Given the description of an element on the screen output the (x, y) to click on. 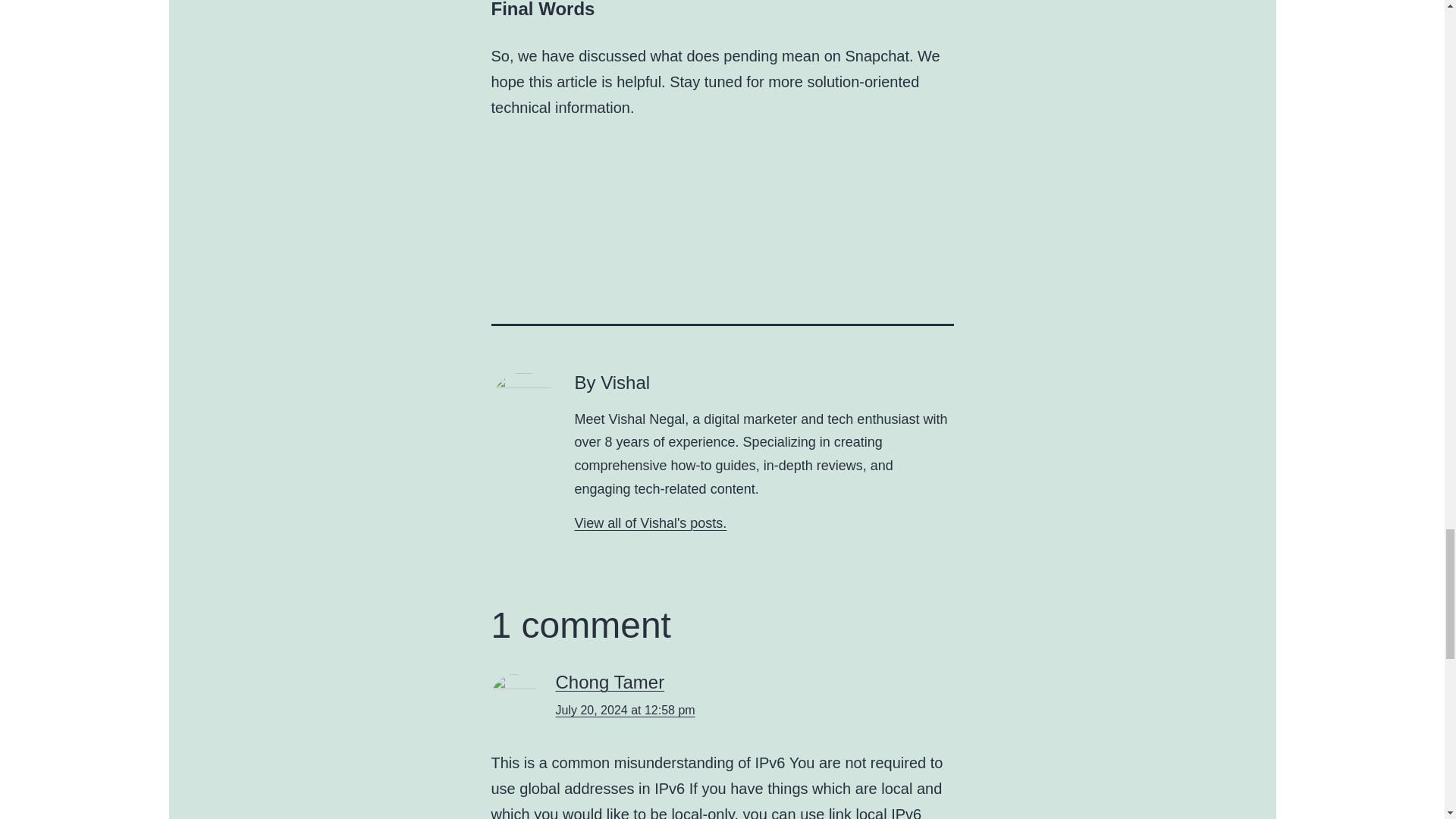
July 20, 2024 at 12:58 pm (624, 709)
Advertisement (870, 218)
Chong Tamer (608, 681)
View all of Vishal's posts. (650, 522)
